Given the description of an element on the screen output the (x, y) to click on. 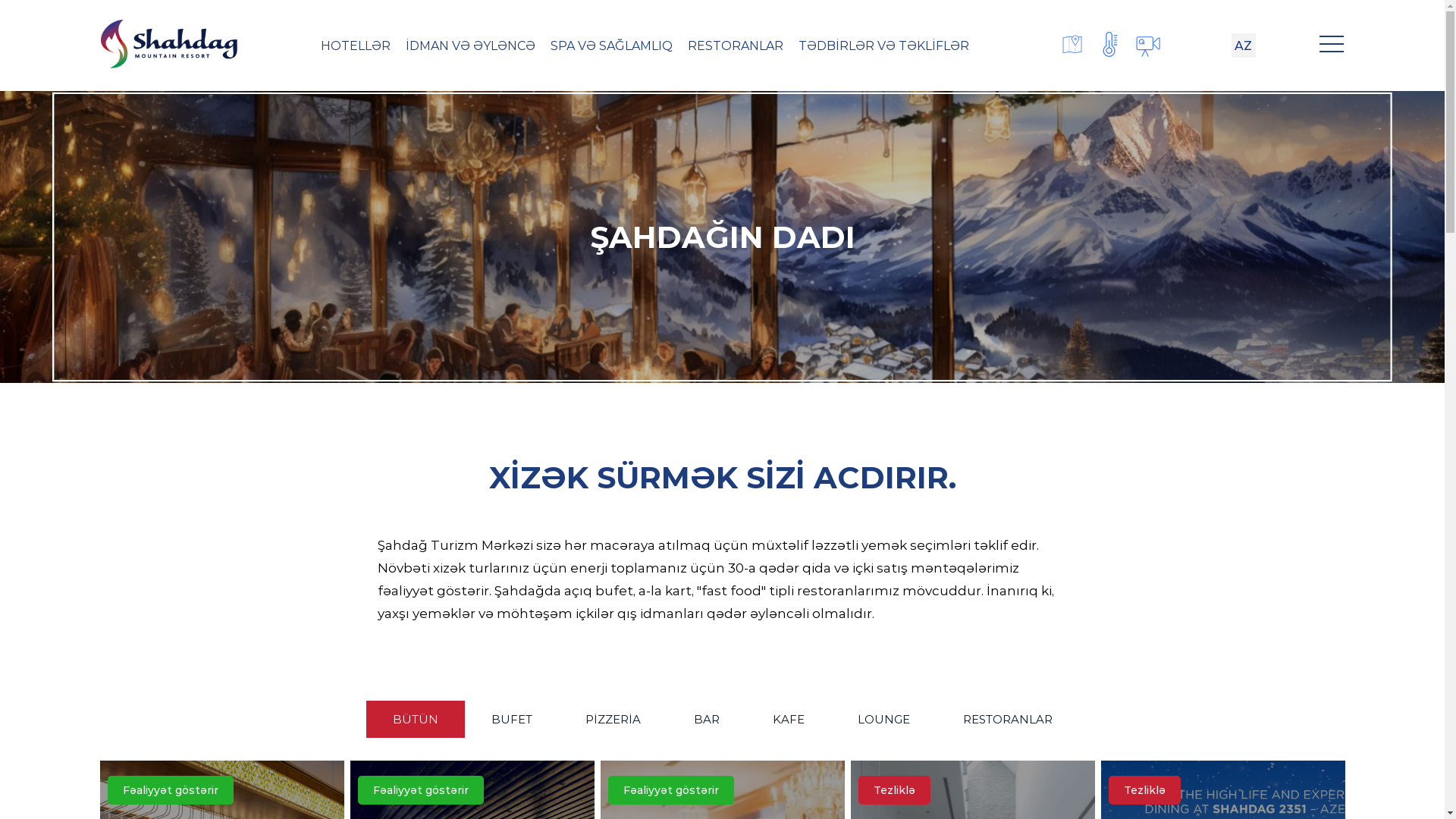
PIZZERIA Element type: text (612, 718)
BUFET Element type: text (511, 718)
LOUNGE Element type: text (883, 718)
RESTORANLAR Element type: text (1006, 718)
RESTORANLAR Element type: text (735, 44)
KAFE Element type: text (788, 718)
BAR Element type: text (706, 718)
